Given the description of an element on the screen output the (x, y) to click on. 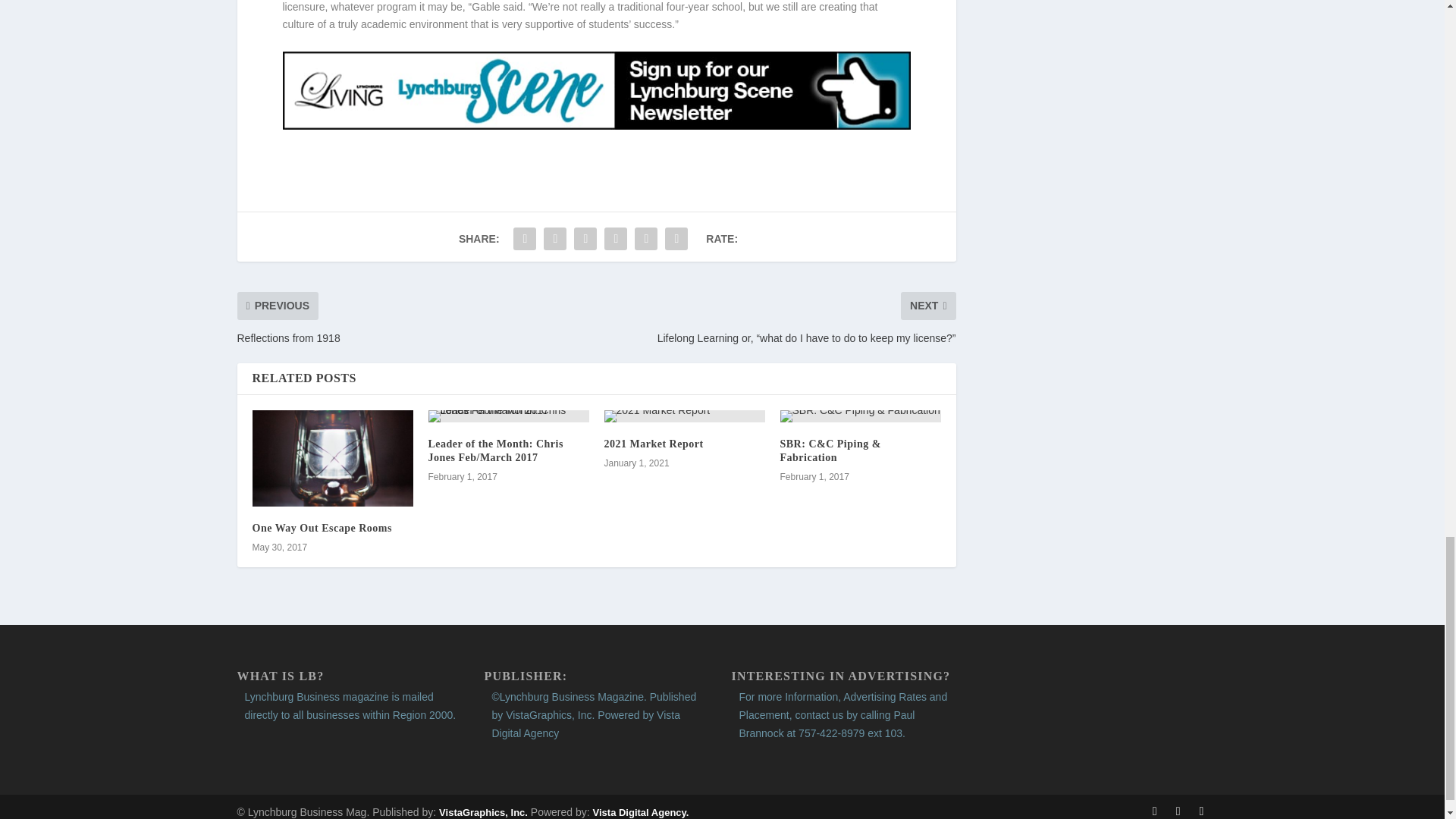
Share "Nurses Needed" via LinkedIn (614, 238)
Share "Nurses Needed" via Pinterest (584, 238)
Share "Nurses Needed" via Print (676, 238)
2021 Market Report (684, 416)
Share "Nurses Needed" via Facebook (524, 238)
Share "Nurses Needed" via Email (645, 238)
One Way Out Escape Rooms (331, 458)
Share "Nurses Needed" via Twitter (555, 238)
